Given the description of an element on the screen output the (x, y) to click on. 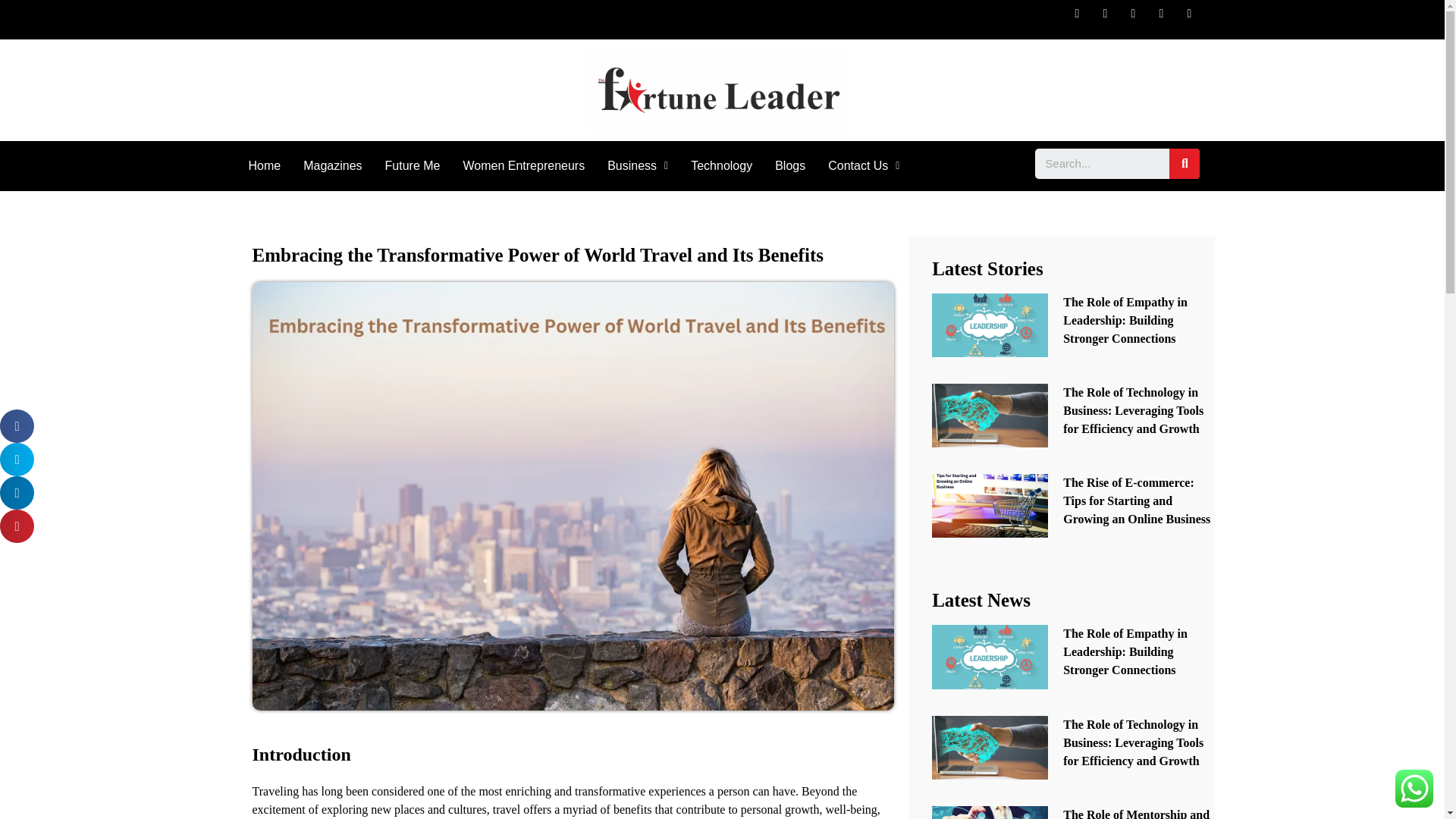
Women Entrepreneurs (523, 165)
Technology (720, 165)
Business (637, 165)
Future Me (412, 165)
Search (1102, 163)
Contact Us (863, 165)
Search (1184, 163)
Home (263, 165)
Magazines (332, 165)
Blogs (789, 165)
